Given the description of an element on the screen output the (x, y) to click on. 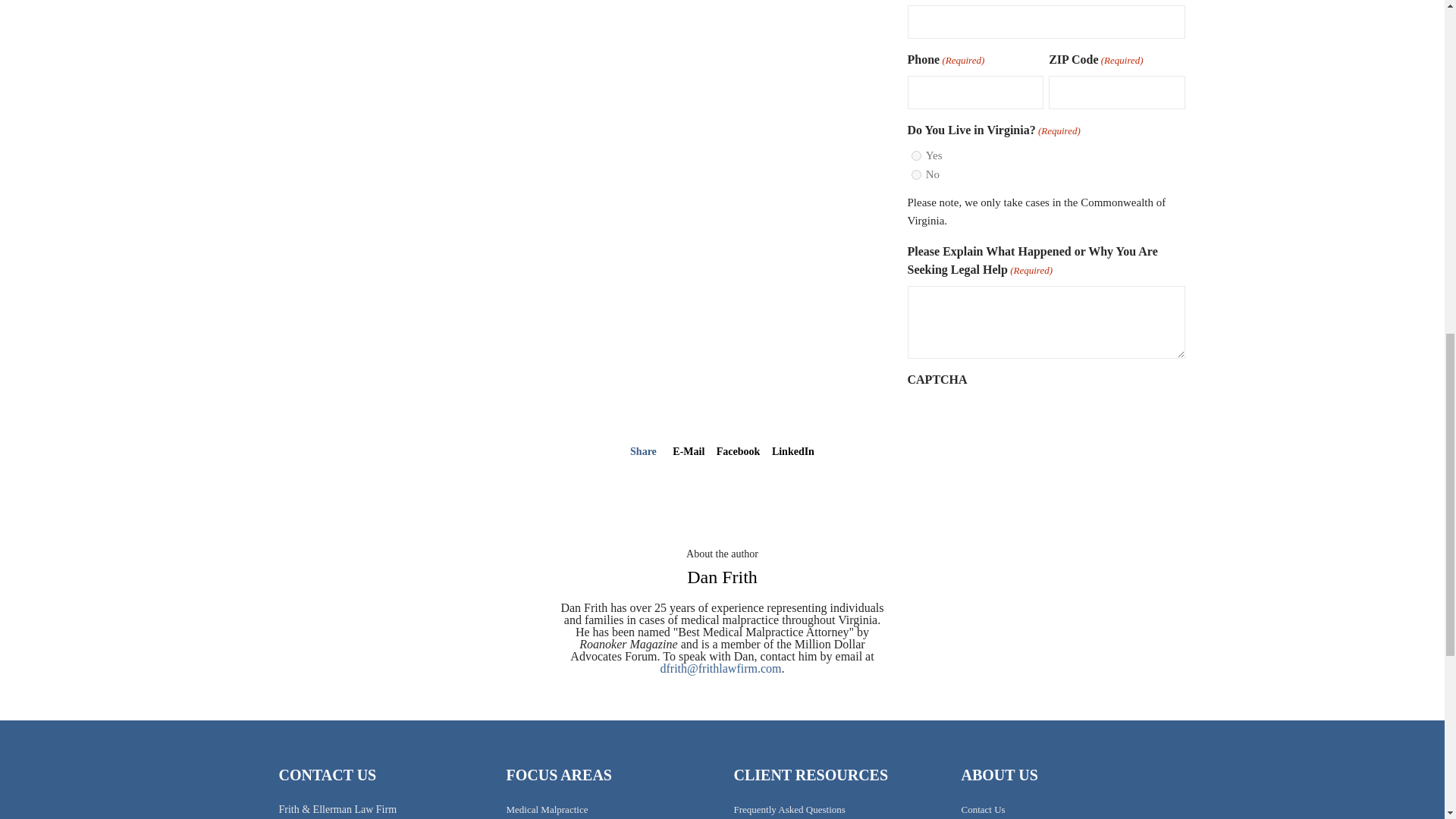
Dan Frith (721, 576)
Medical Malpractice (547, 808)
Yes (916, 155)
LinkedIn (792, 451)
Facebook (738, 451)
No (916, 174)
E-Mail (688, 451)
Frequently Asked Questions (789, 808)
